Given the description of an element on the screen output the (x, y) to click on. 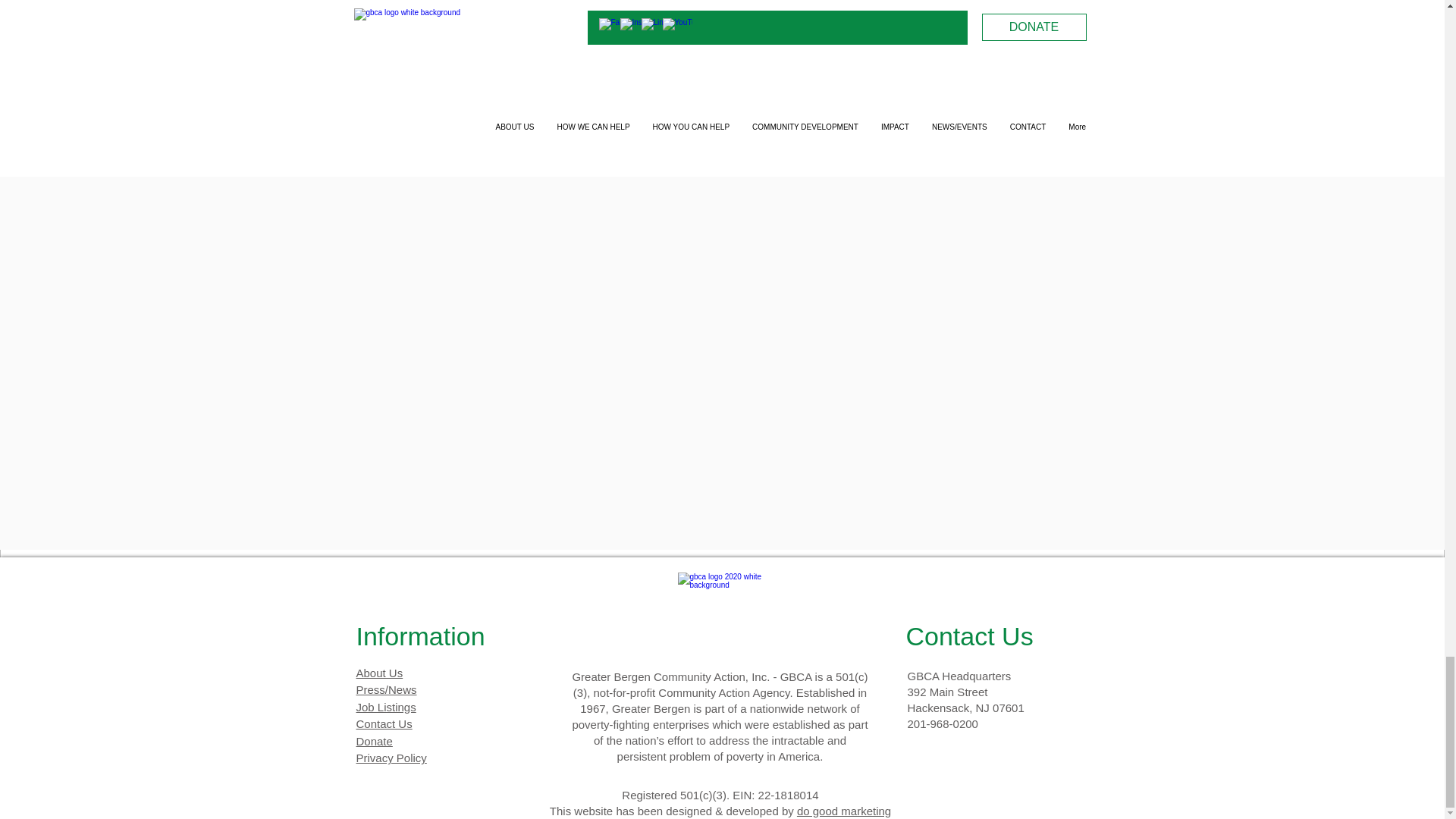
About Us (379, 672)
Job Listings (386, 707)
Contact Us (384, 723)
Privacy Policy (391, 757)
Donate (374, 740)
